Given the description of an element on the screen output the (x, y) to click on. 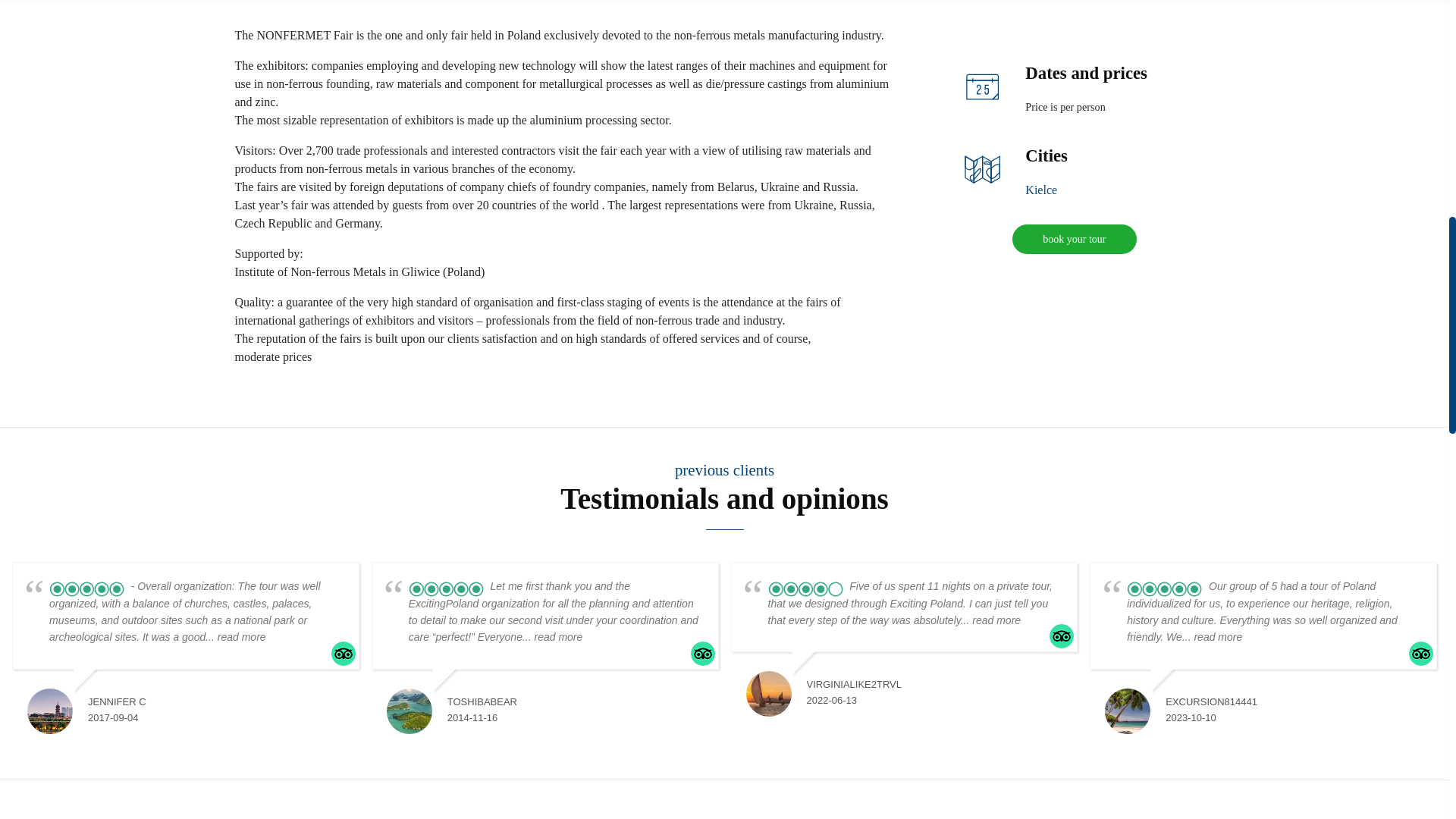
... read more (552, 636)
... read more (1211, 636)
... read more (234, 636)
book your tour (1073, 238)
... read more (990, 620)
Kielce (1041, 189)
